Given the description of an element on the screen output the (x, y) to click on. 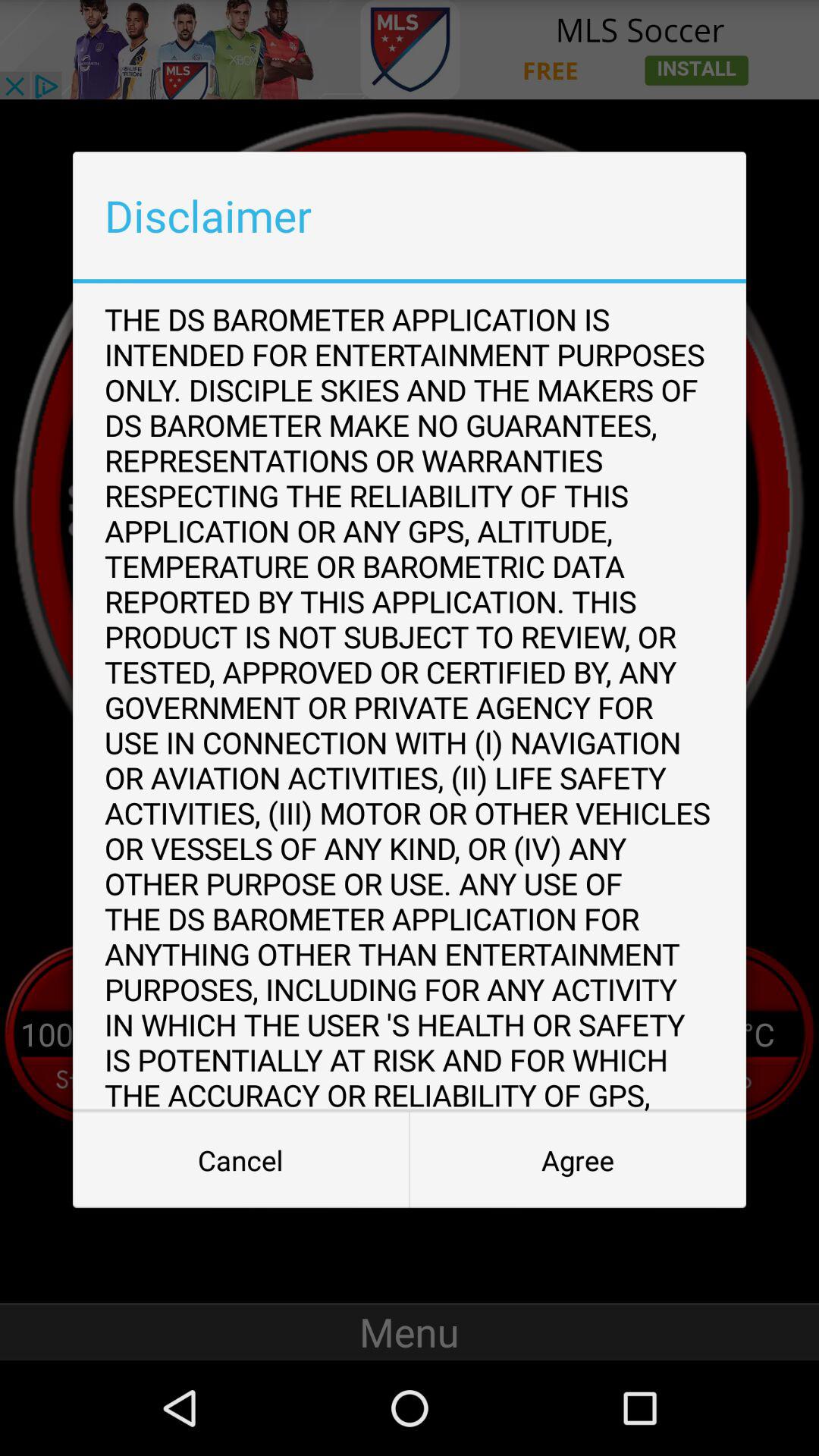
open the icon below the ds barometer app (240, 1160)
